Given the description of an element on the screen output the (x, y) to click on. 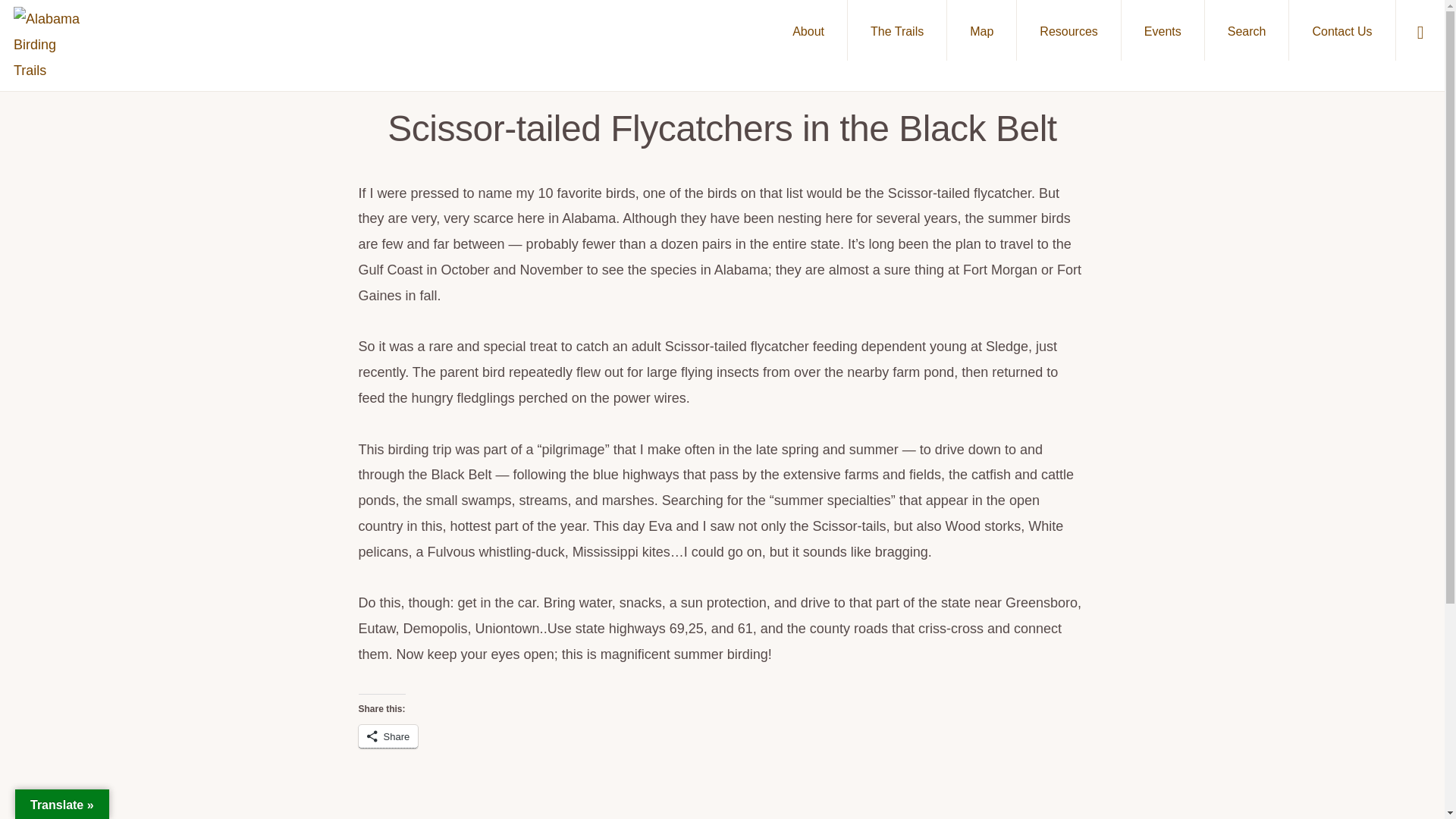
The Trails (896, 30)
About (808, 30)
